Given the description of an element on the screen output the (x, y) to click on. 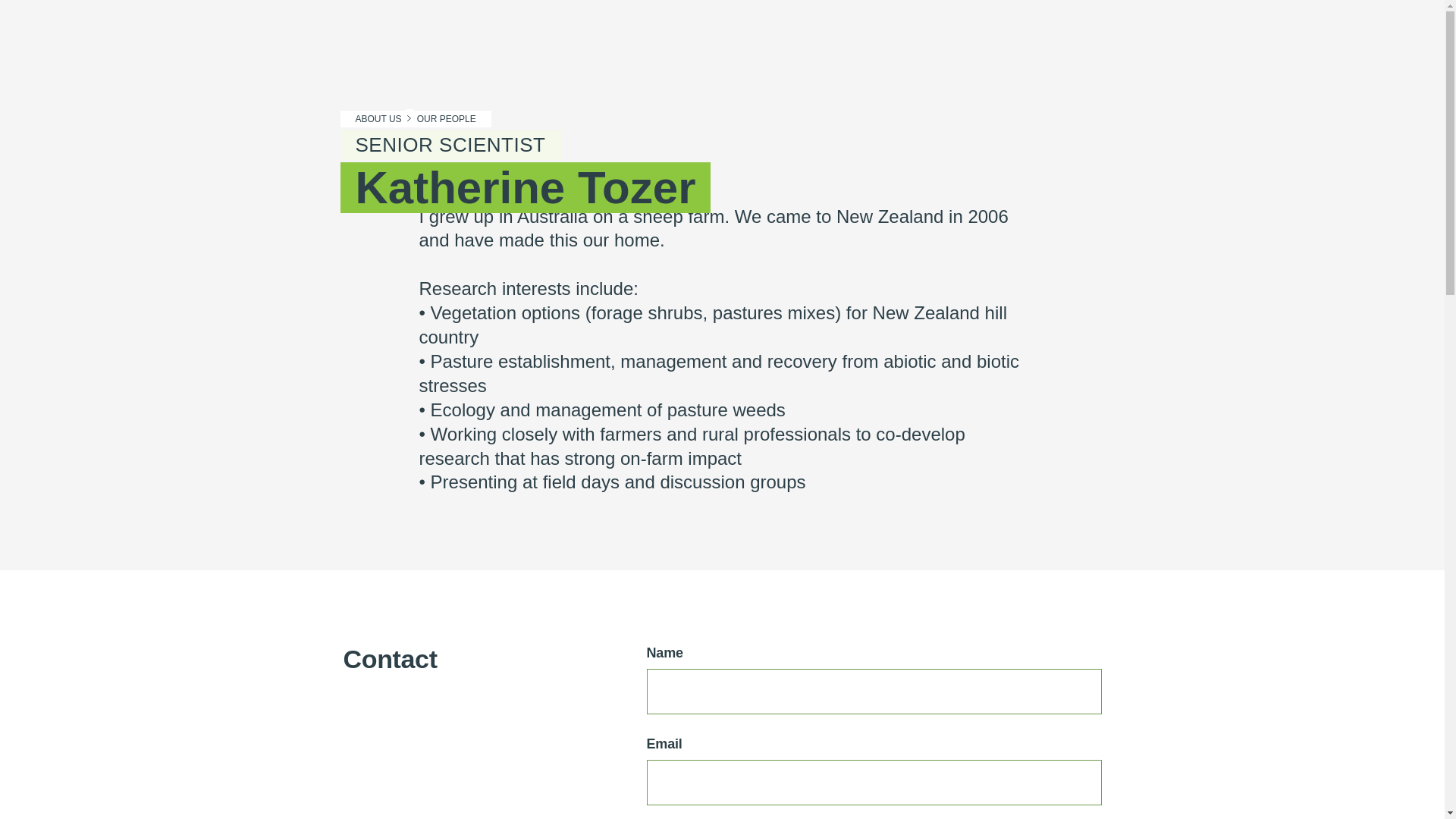
ABOUT US (371, 118)
OUR PEOPLE (452, 118)
